Given the description of an element on the screen output the (x, y) to click on. 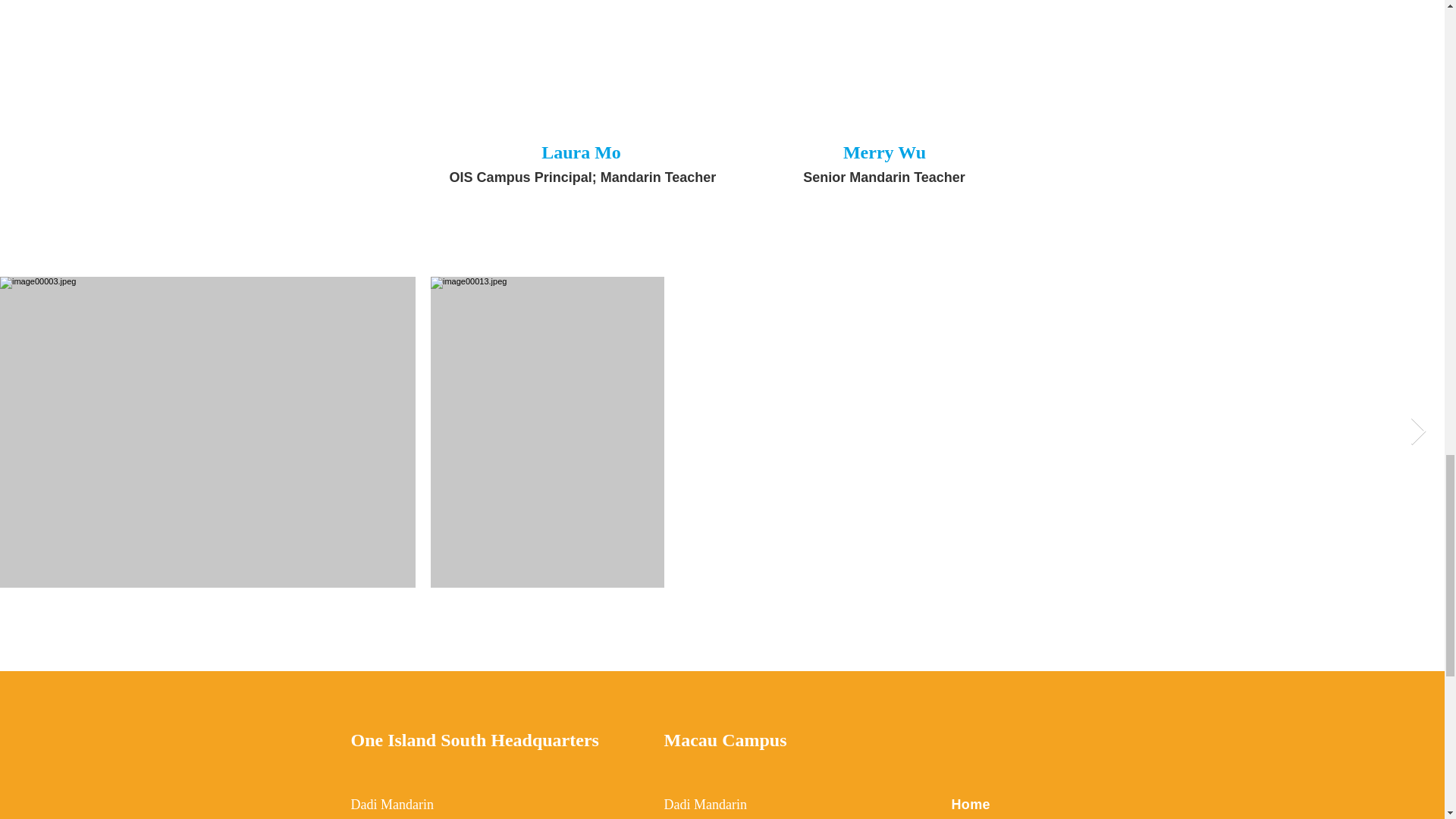
Classes (977, 818)
Home (970, 804)
